Given the description of an element on the screen output the (x, y) to click on. 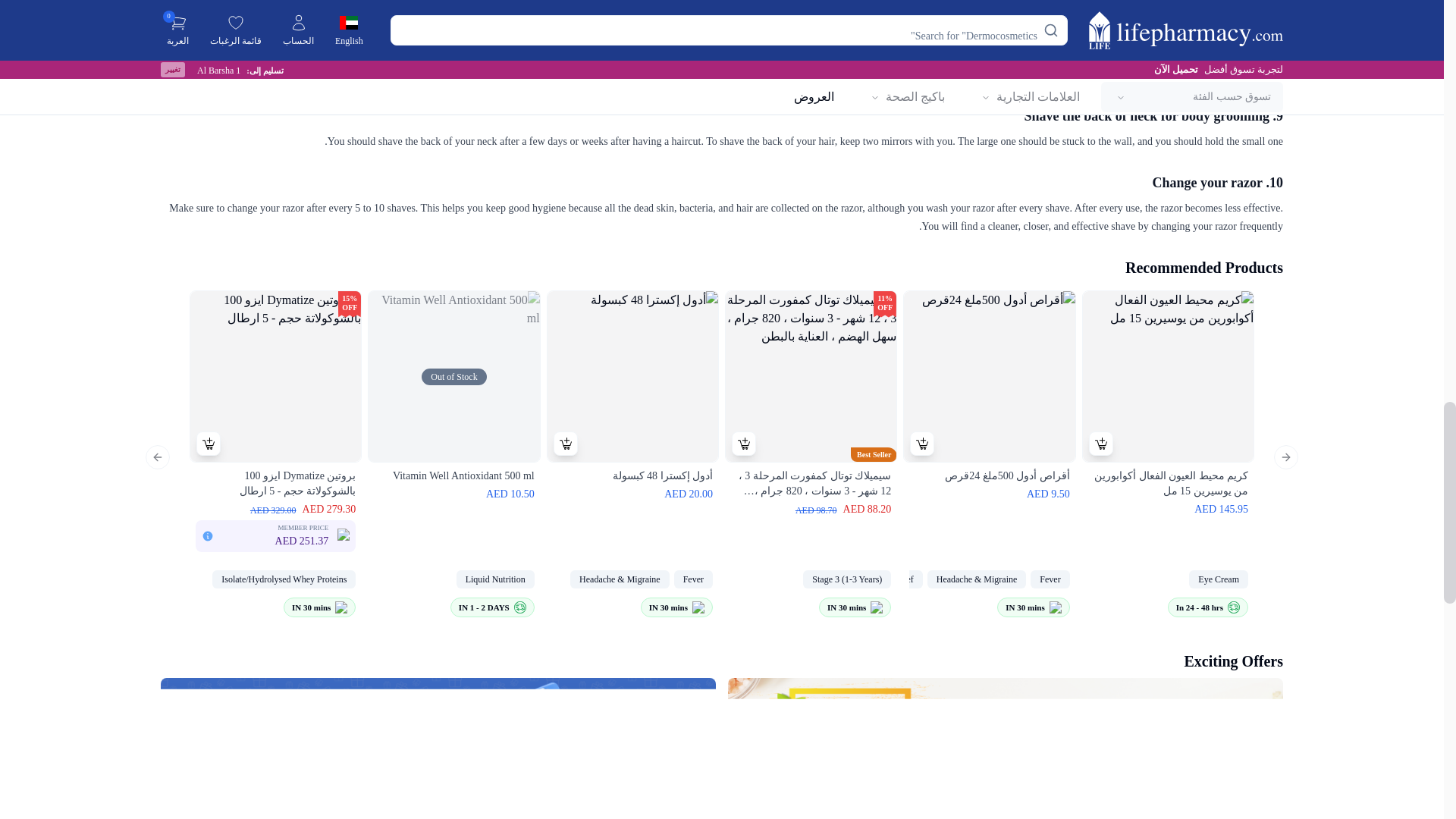
Liquid Nutrition (454, 579)
Eye Cream (1167, 579)
Pain Relief (893, 579)
Fever (693, 579)
Fever (1049, 579)
Eye Cream (1218, 579)
